Given the description of an element on the screen output the (x, y) to click on. 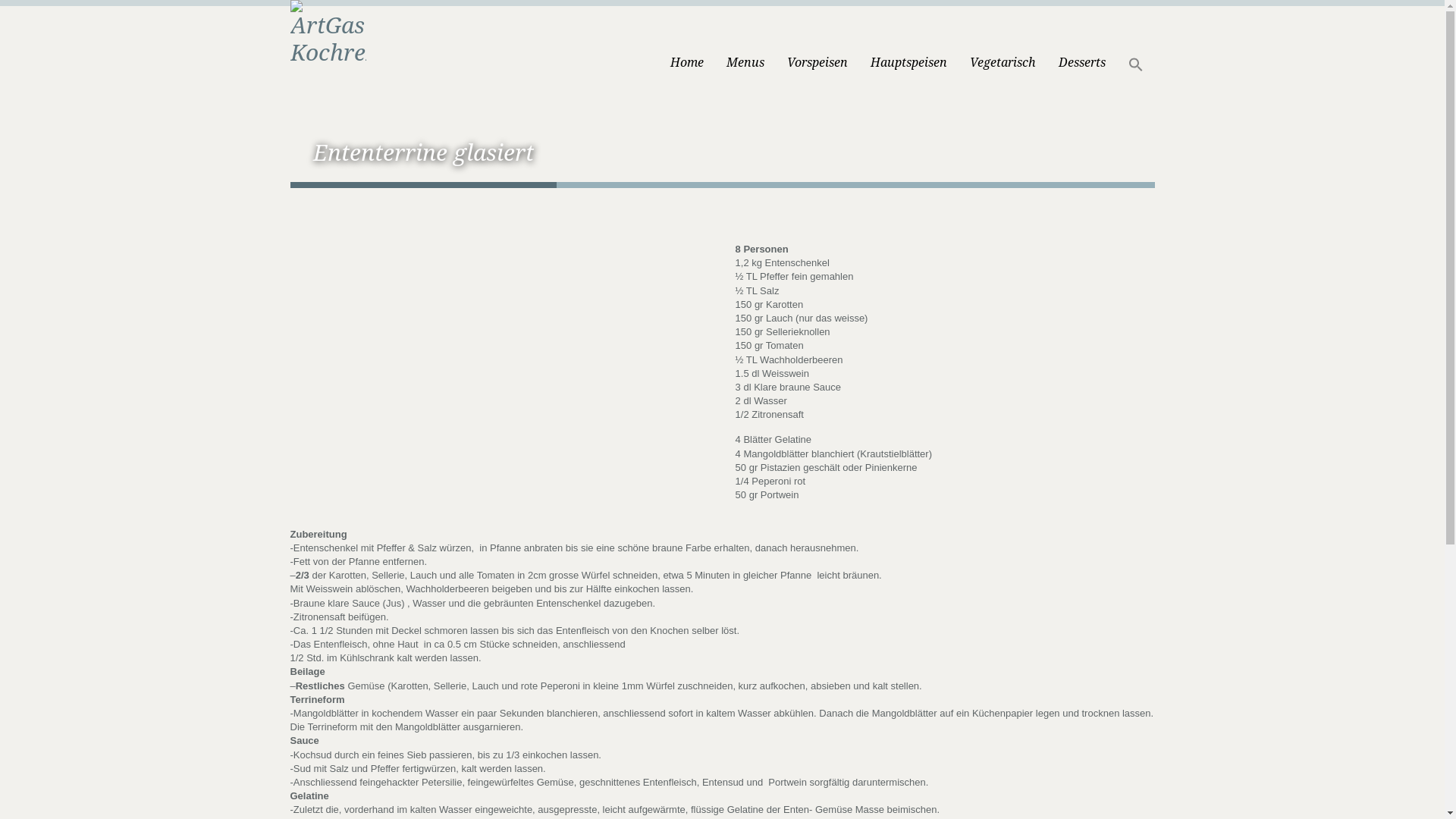
Home Element type: text (686, 43)
Menus Element type: text (744, 43)
Hauptspeisen Element type: text (907, 43)
 ArtGastro- Kochrezepte Element type: hover (327, 31)
Desserts Element type: text (1081, 43)
Vegetarisch Element type: text (1002, 43)
Vorspeisen Element type: text (816, 43)
